Given the description of an element on the screen output the (x, y) to click on. 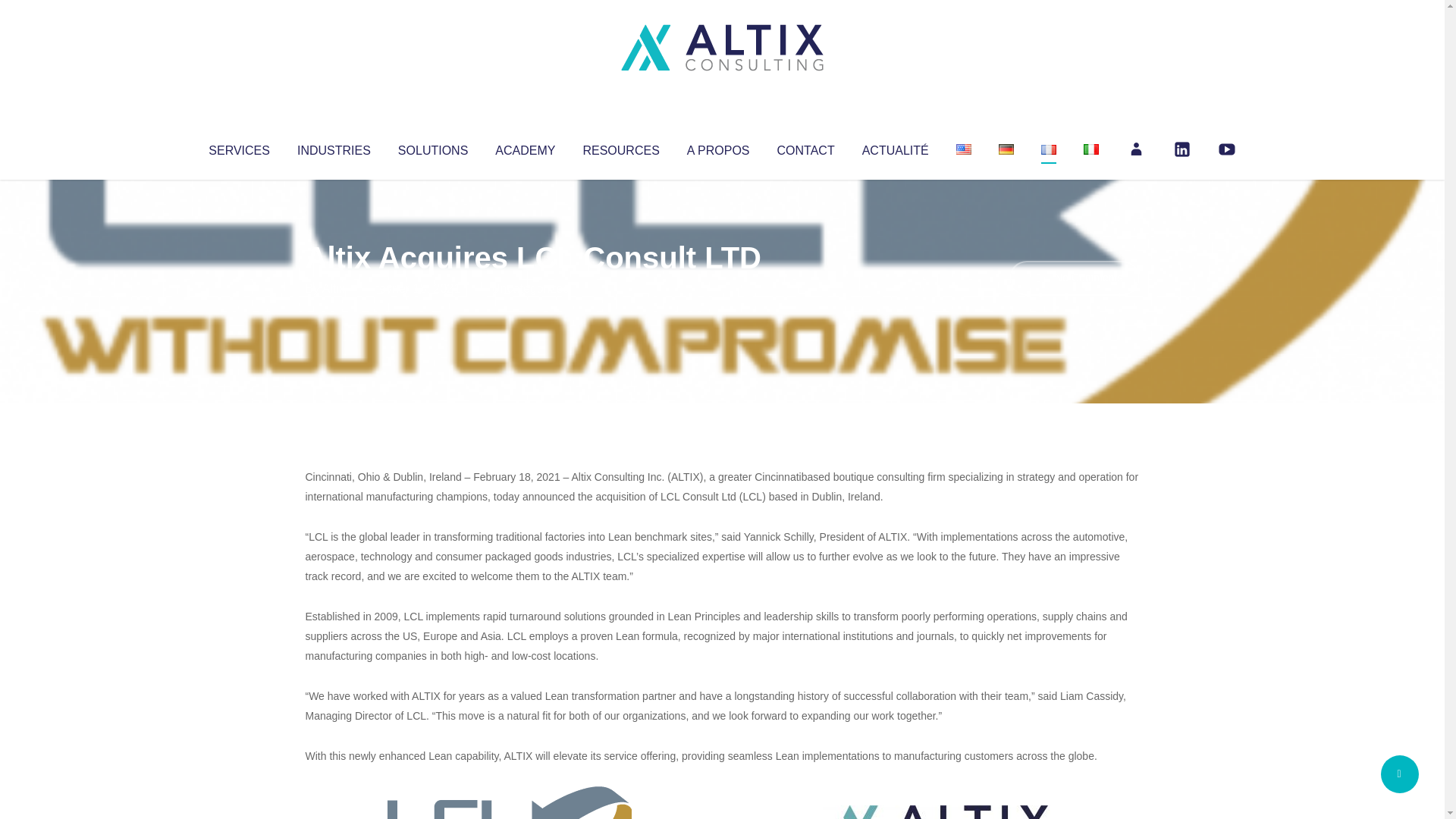
A PROPOS (718, 146)
RESOURCES (620, 146)
No Comments (1073, 278)
SOLUTIONS (432, 146)
Altix (333, 287)
Articles par Altix (333, 287)
Uncategorized (530, 287)
INDUSTRIES (334, 146)
SERVICES (238, 146)
ACADEMY (524, 146)
